Given the description of an element on the screen output the (x, y) to click on. 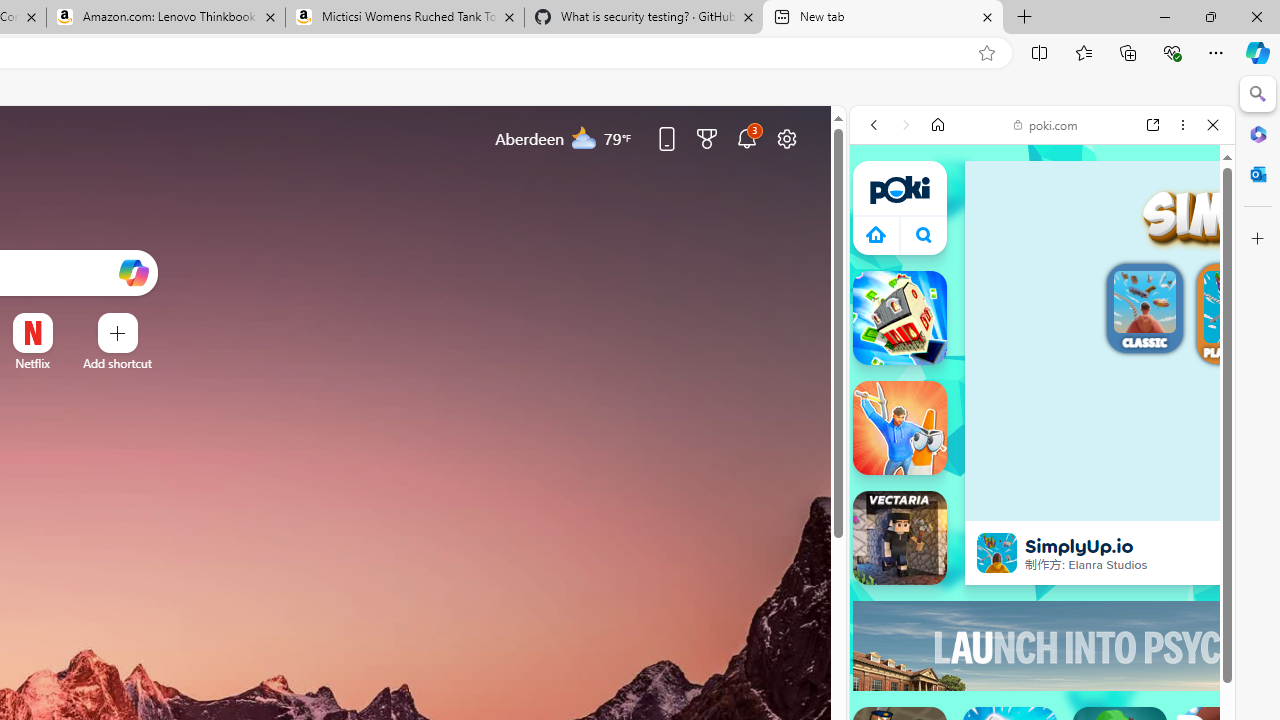
Vectaria.io (899, 537)
Car Games (1042, 504)
Car Games (1042, 503)
Simply Prop Hunt Simply Prop Hunt (899, 427)
More Options (64, 320)
